Given the description of an element on the screen output the (x, y) to click on. 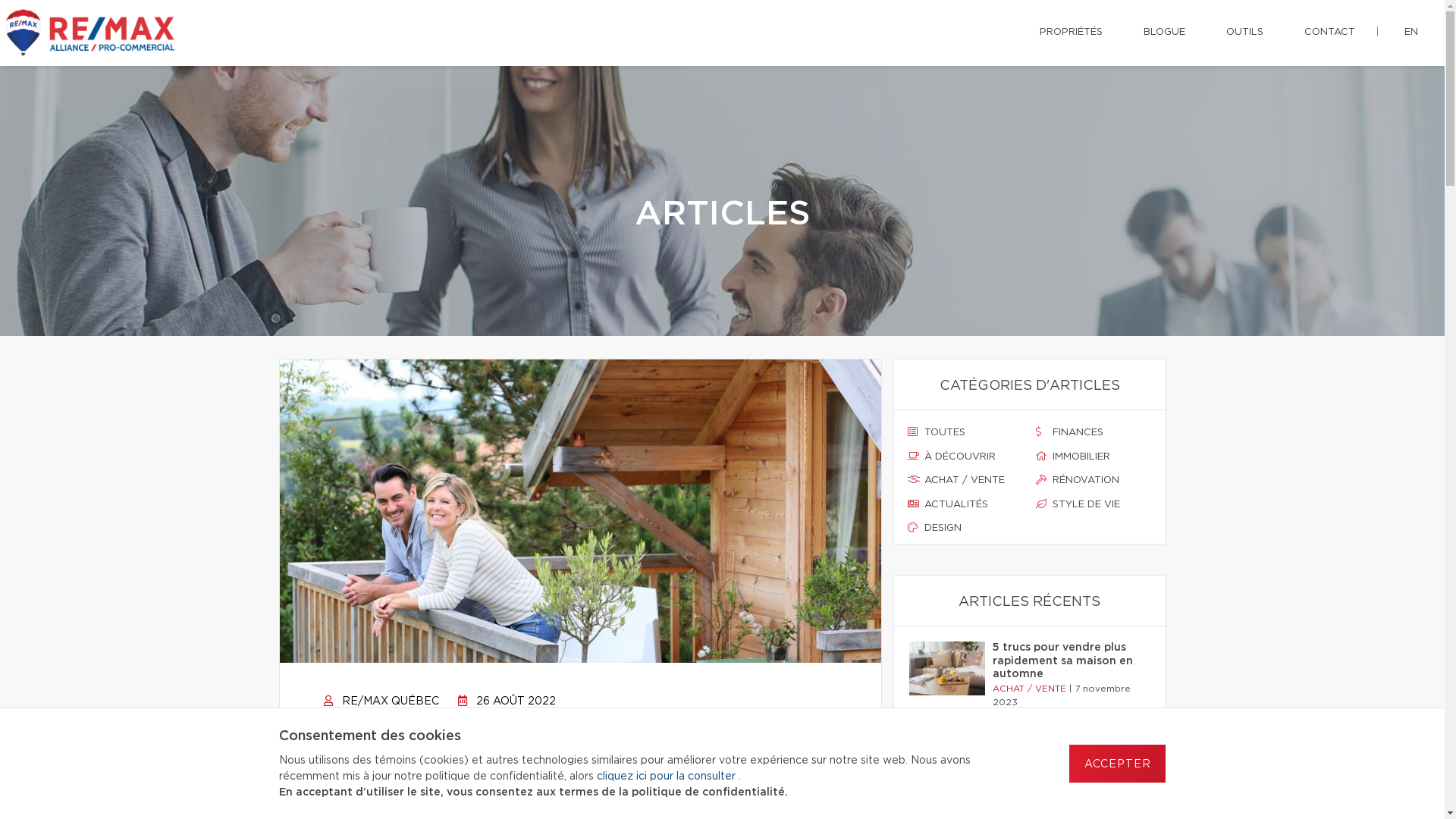
TOUTES Element type: text (964, 432)
STYLE DE VIE Element type: text (1093, 504)
ACCEPTER Element type: text (1117, 763)
EN Element type: text (1411, 32)
IMMOBILIER Element type: text (1093, 456)
5 trucs pour vendre plus rapidement sa maison en automne Element type: text (1066, 661)
FINANCES Element type: text (1093, 432)
DESIGN Element type: text (964, 528)
OUTILS Element type: text (1244, 32)
ACHAT / VENTE Element type: text (964, 480)
cliquez ici pour la consulter Element type: text (666, 776)
CONTACT Element type: text (1329, 32)
BLOGUE Element type: text (1164, 32)
